Given the description of an element on the screen output the (x, y) to click on. 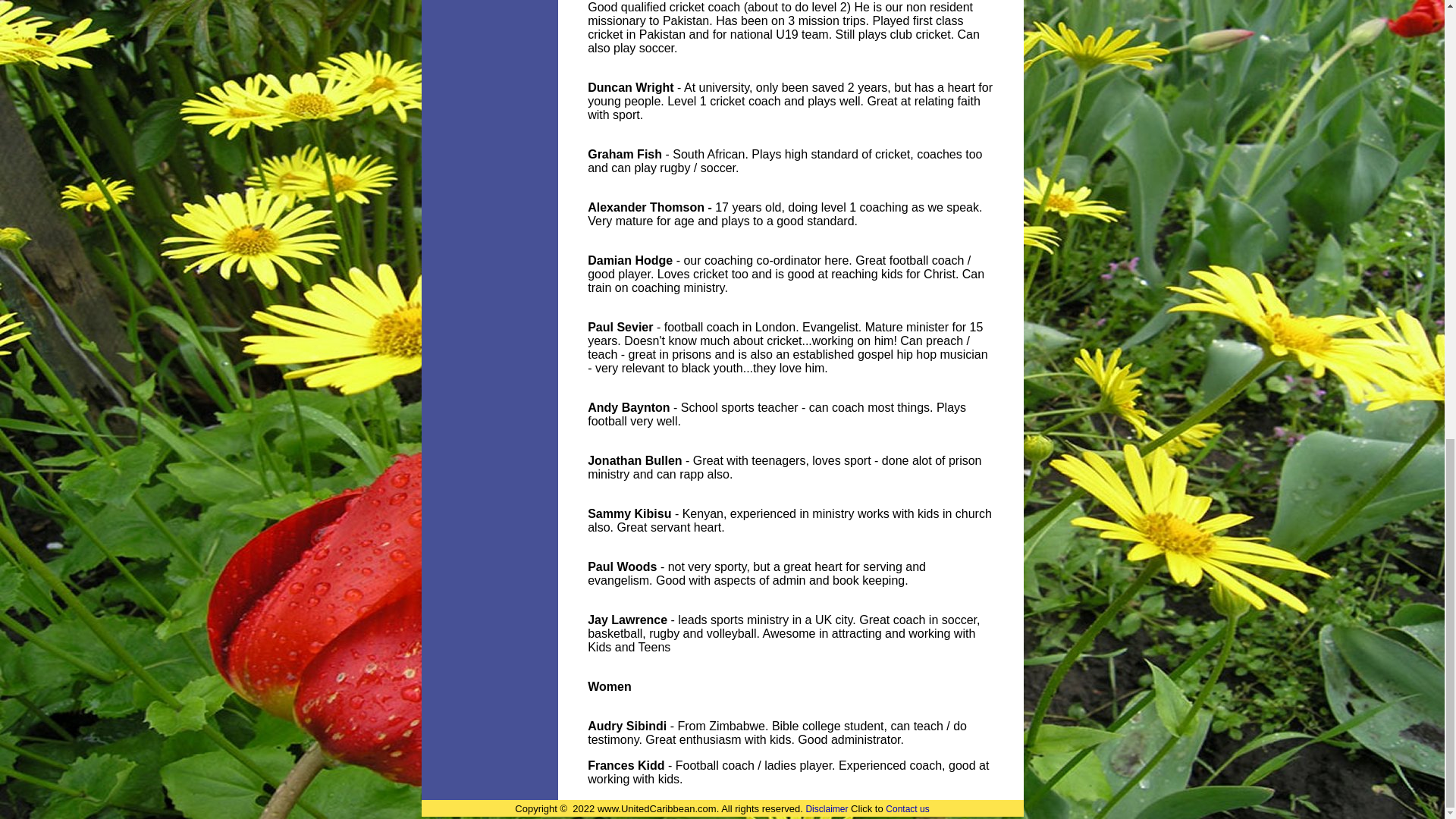
Disclaimer (826, 808)
Contact us (906, 808)
